Given the description of an element on the screen output the (x, y) to click on. 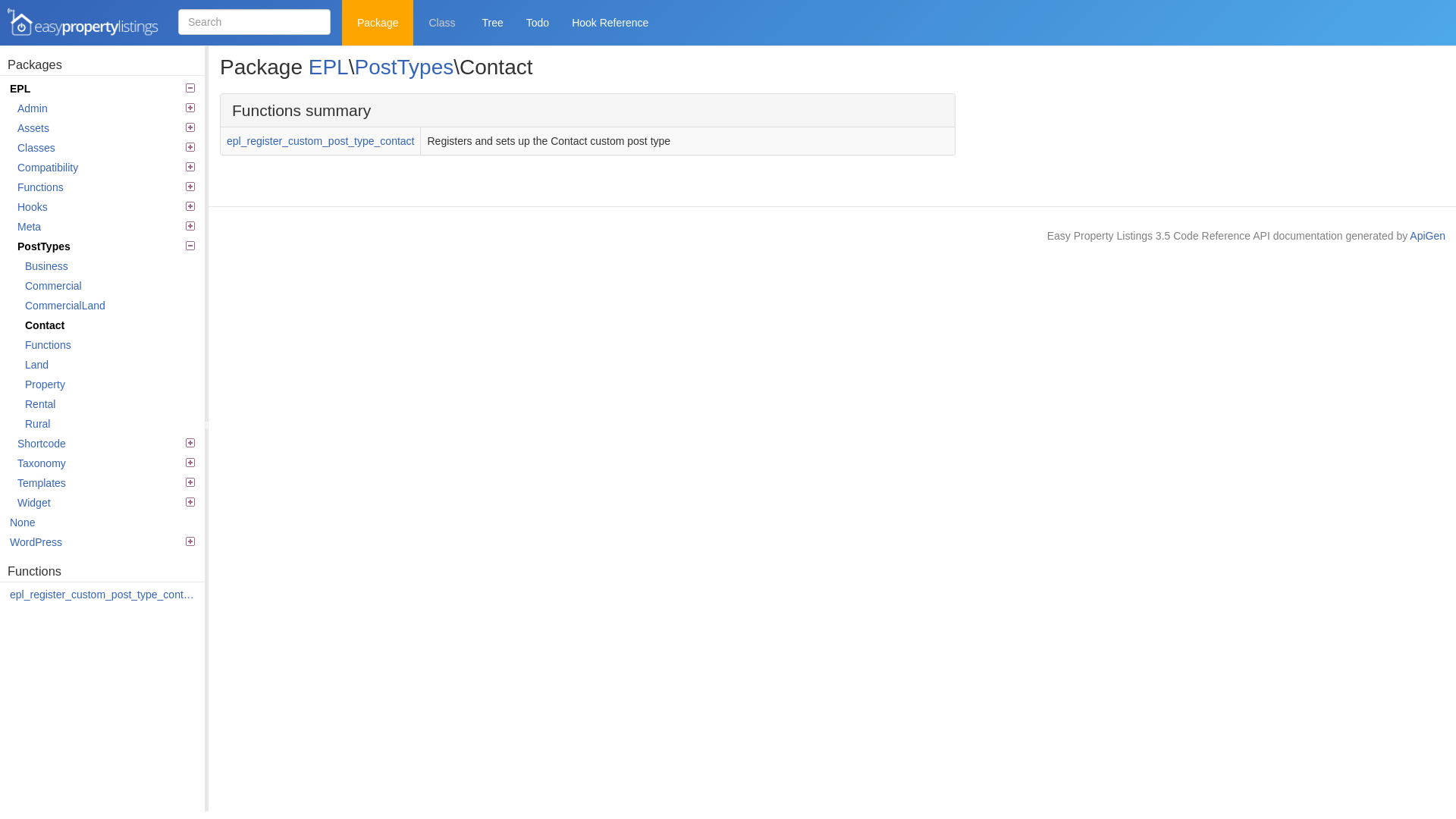
Rental Element type: text (109, 404)
Easy Property Listings 3.5 Code Reference Element type: text (83, 22)
Rural Element type: text (109, 423)
Land Element type: text (109, 364)
Admin Element type: text (106, 108)
PostTypes Element type: text (106, 246)
Hooks Element type: text (106, 206)
Functions Element type: text (106, 187)
Classes Element type: text (106, 147)
EPL Element type: text (102, 88)
CommercialLand Element type: text (109, 305)
Tree Element type: text (492, 22)
Todo Element type: text (537, 22)
Taxonomy Element type: text (106, 463)
epl_register_custom_post_type_contact Element type: text (320, 140)
Business Element type: text (109, 266)
ApiGen Element type: text (1427, 235)
Contact Element type: text (109, 325)
Compatibility Element type: text (106, 167)
Shortcode Element type: text (106, 443)
Assets Element type: text (106, 128)
Templates Element type: text (106, 482)
Commercial Element type: text (109, 285)
Functions Element type: text (109, 344)
Widget Element type: text (106, 502)
EPL Element type: text (328, 66)
PostTypes Element type: text (403, 66)
None Element type: text (102, 522)
Hook Reference Element type: text (609, 22)
WordPress Element type: text (102, 542)
Property Element type: text (109, 384)
epl_register_custom_post_type_contact Element type: text (102, 594)
Meta Element type: text (106, 226)
